Given the description of an element on the screen output the (x, y) to click on. 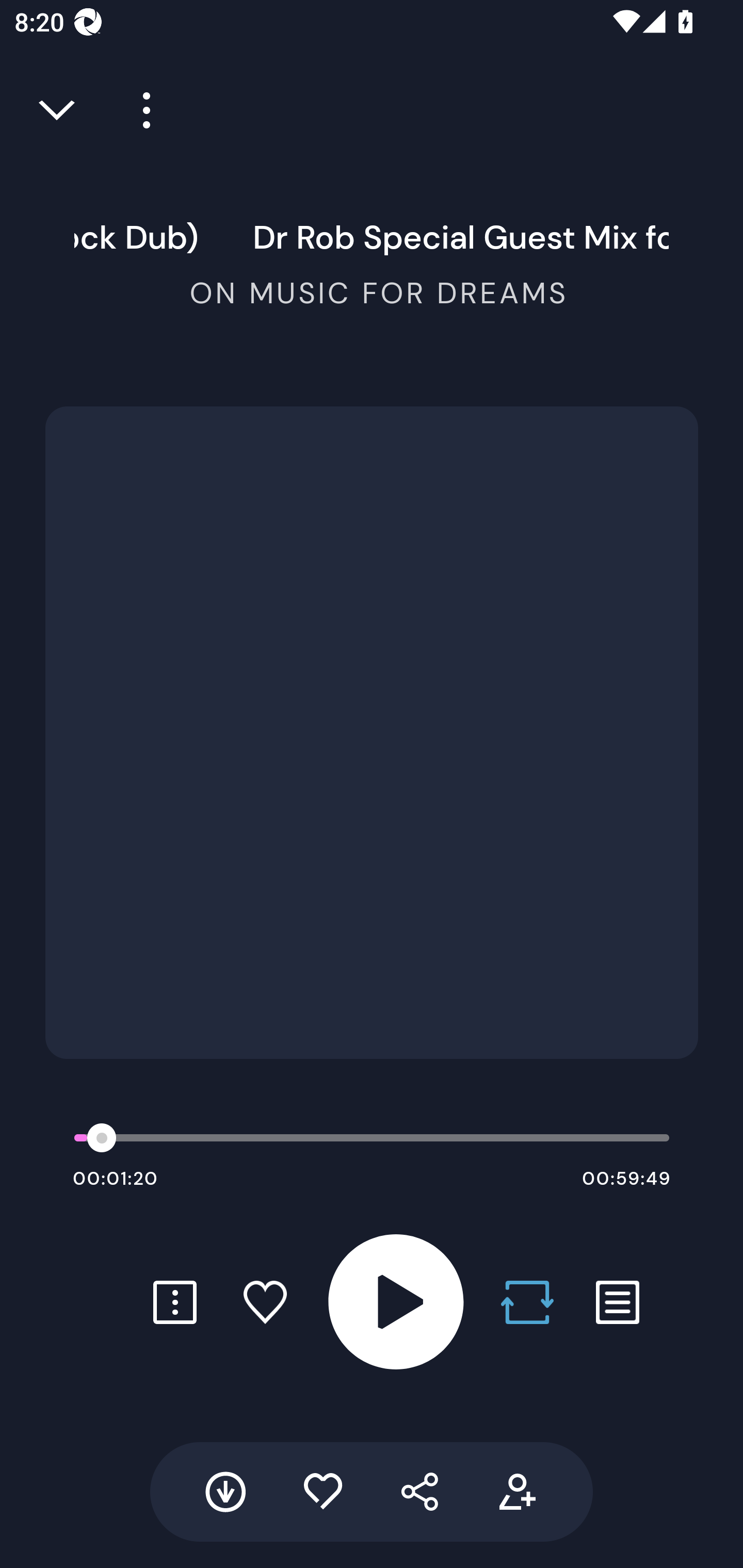
Close full player (58, 110)
Player more options button (139, 110)
Repost button (527, 1301)
